Given the description of an element on the screen output the (x, y) to click on. 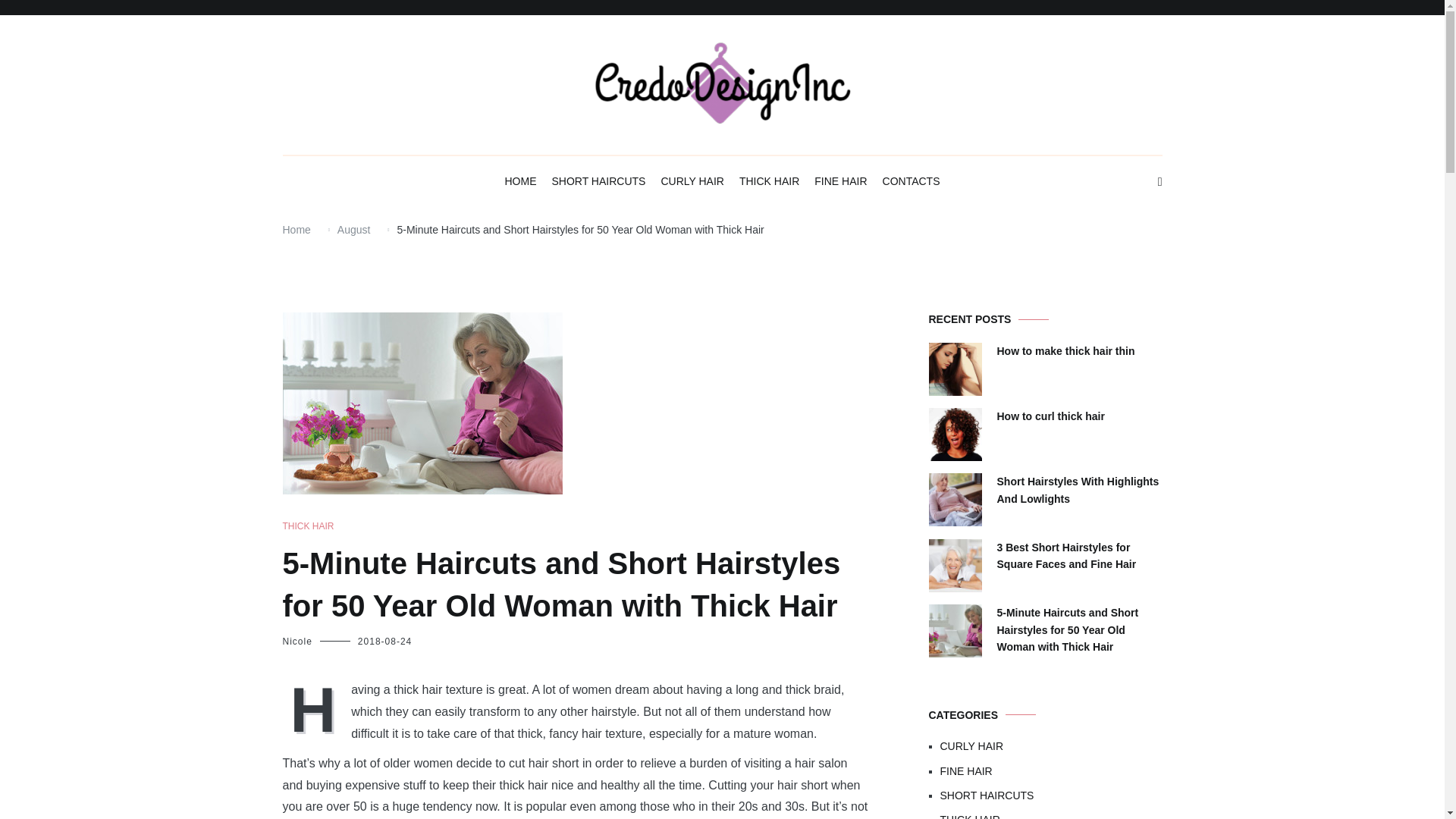
CURLY HAIR (1050, 745)
3 Best Short Hairstyles for Square Faces and Fine Hair (1078, 555)
How to curl thick hair (1049, 416)
SHORT HAIRCUTS (598, 181)
How to make thick hair thin (1064, 351)
Short Hairstyles With Highlights And Lowlights (1078, 489)
CURLY HAIR (692, 181)
FINE HAIR (839, 181)
CONTACTS (911, 181)
August (354, 229)
Hairstyles for Women (671, 168)
FINE HAIR (1050, 770)
H (316, 707)
Home (296, 229)
